Given the description of an element on the screen output the (x, y) to click on. 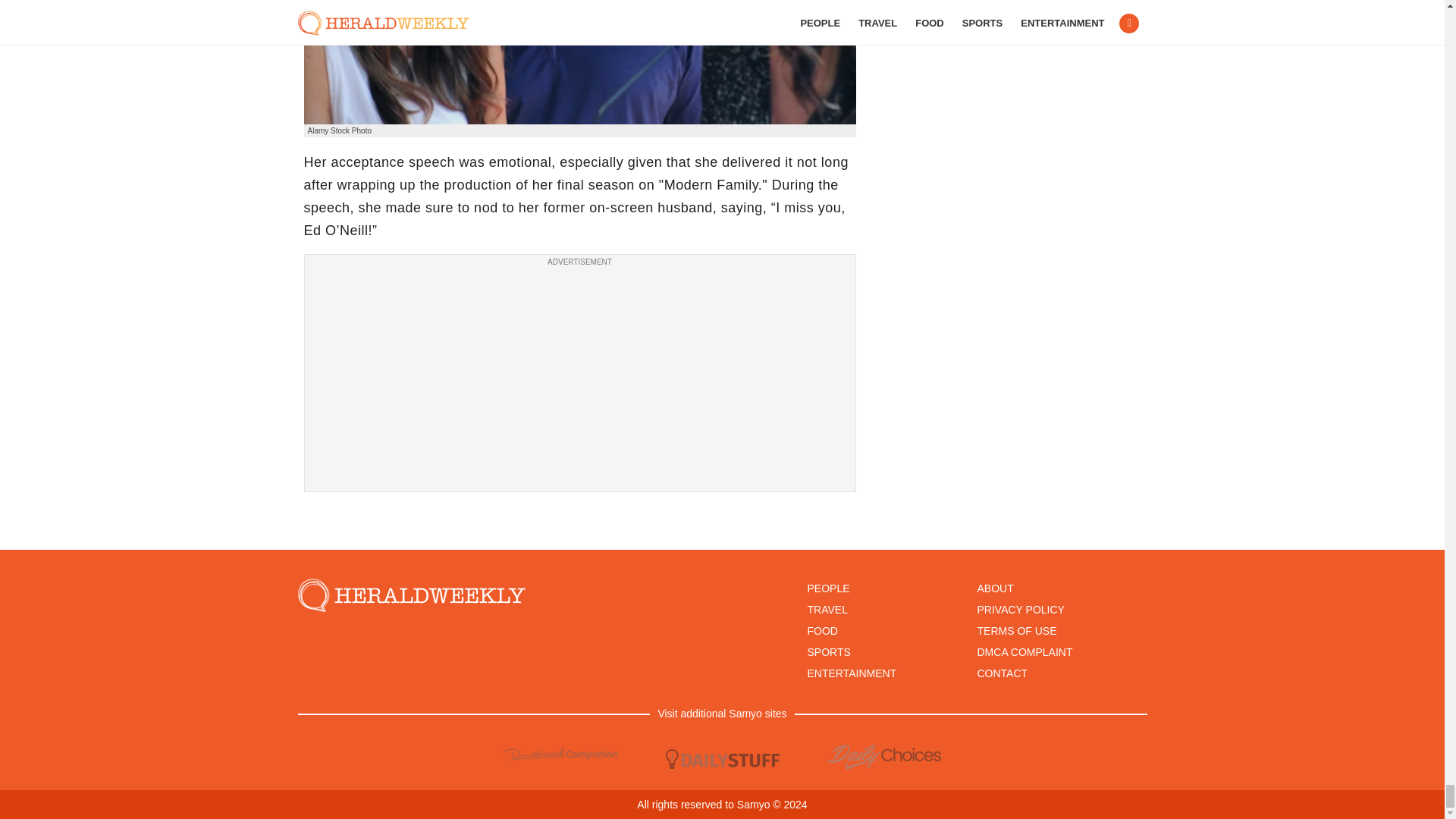
SPORTS (828, 652)
FOOD (821, 630)
PRIVACY POLICY (1020, 609)
ENTERTAINMENT (851, 673)
DMCA COMPLAINT (1023, 652)
PEOPLE (827, 588)
CONTACT (1001, 673)
TRAVEL (826, 609)
TERMS OF USE (1016, 630)
ABOUT (994, 588)
